Given the description of an element on the screen output the (x, y) to click on. 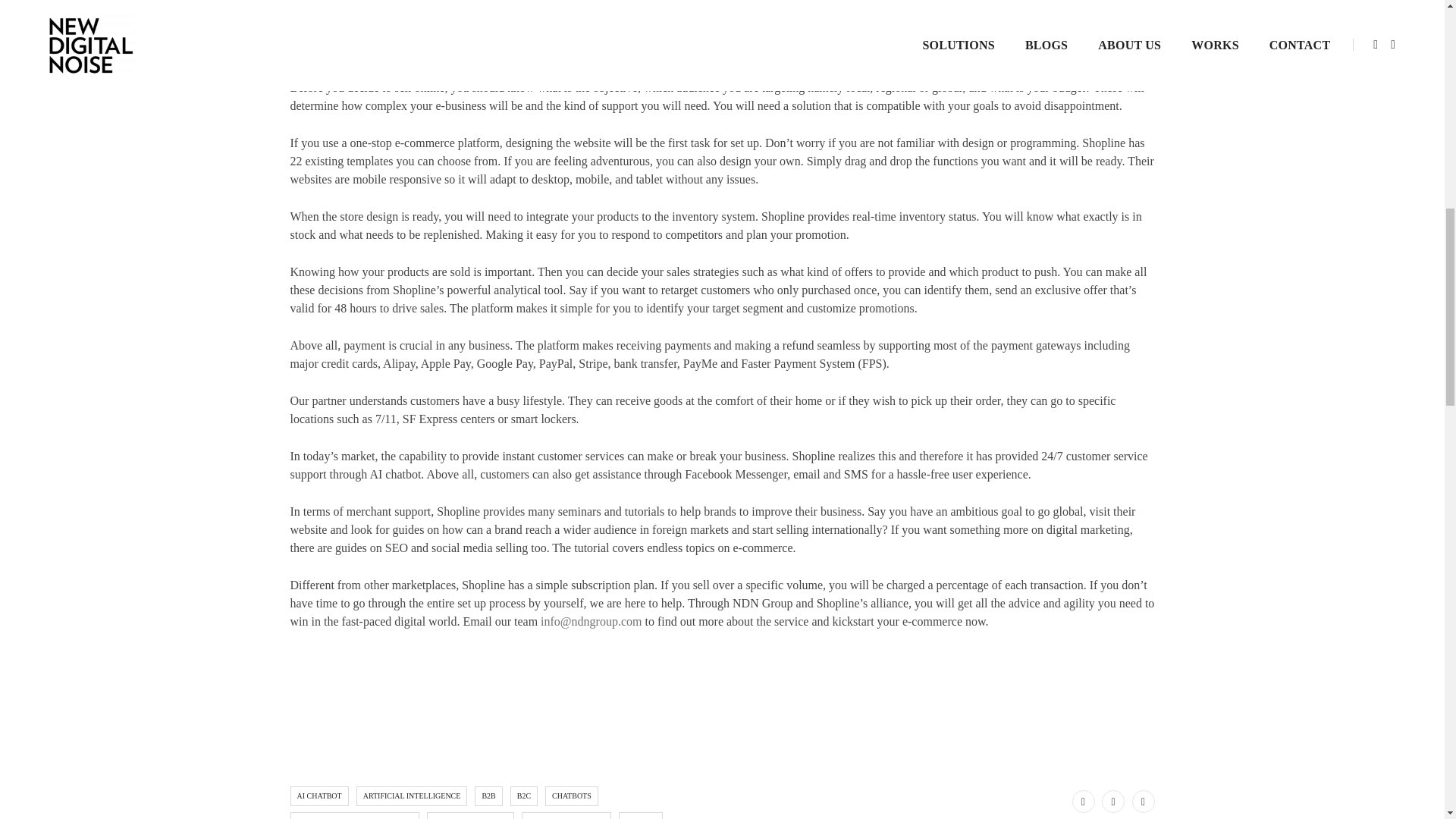
CHATBOTS (571, 795)
B2C (524, 795)
CONVERSATIONAL MARKETING (354, 815)
ARTIFICIAL INTELLIGENCE (411, 795)
DIGITAL (640, 815)
CUSTOMER SERVICE (470, 815)
CUSTOMER SUPPORT (566, 815)
AI CHATBOT (318, 795)
B2B (488, 795)
